Given the description of an element on the screen output the (x, y) to click on. 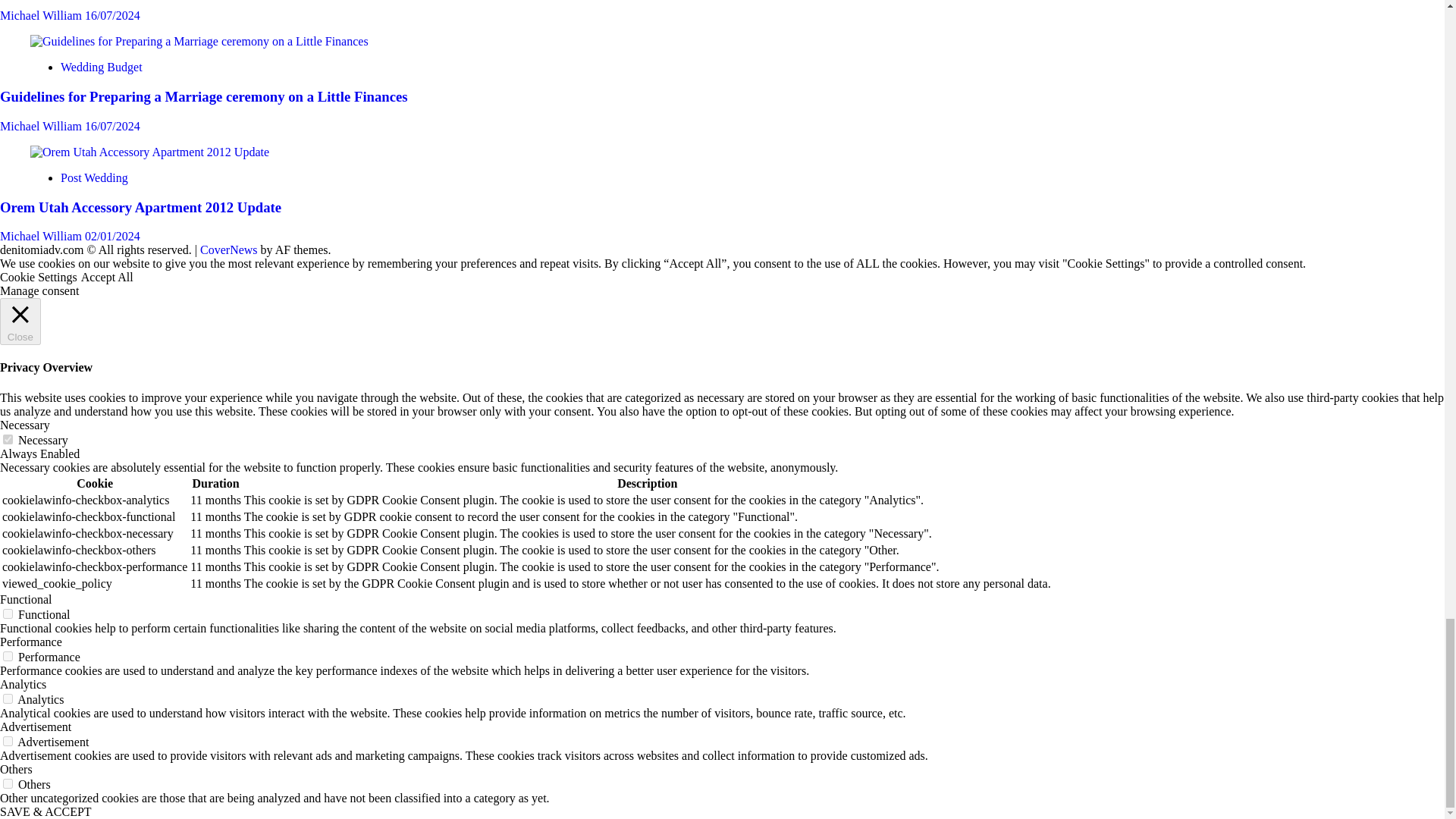
on (7, 614)
on (7, 655)
on (7, 439)
on (7, 783)
on (7, 698)
on (7, 741)
Orem Utah Accessory Apartment 2012 Update (149, 151)
